Given the description of an element on the screen output the (x, y) to click on. 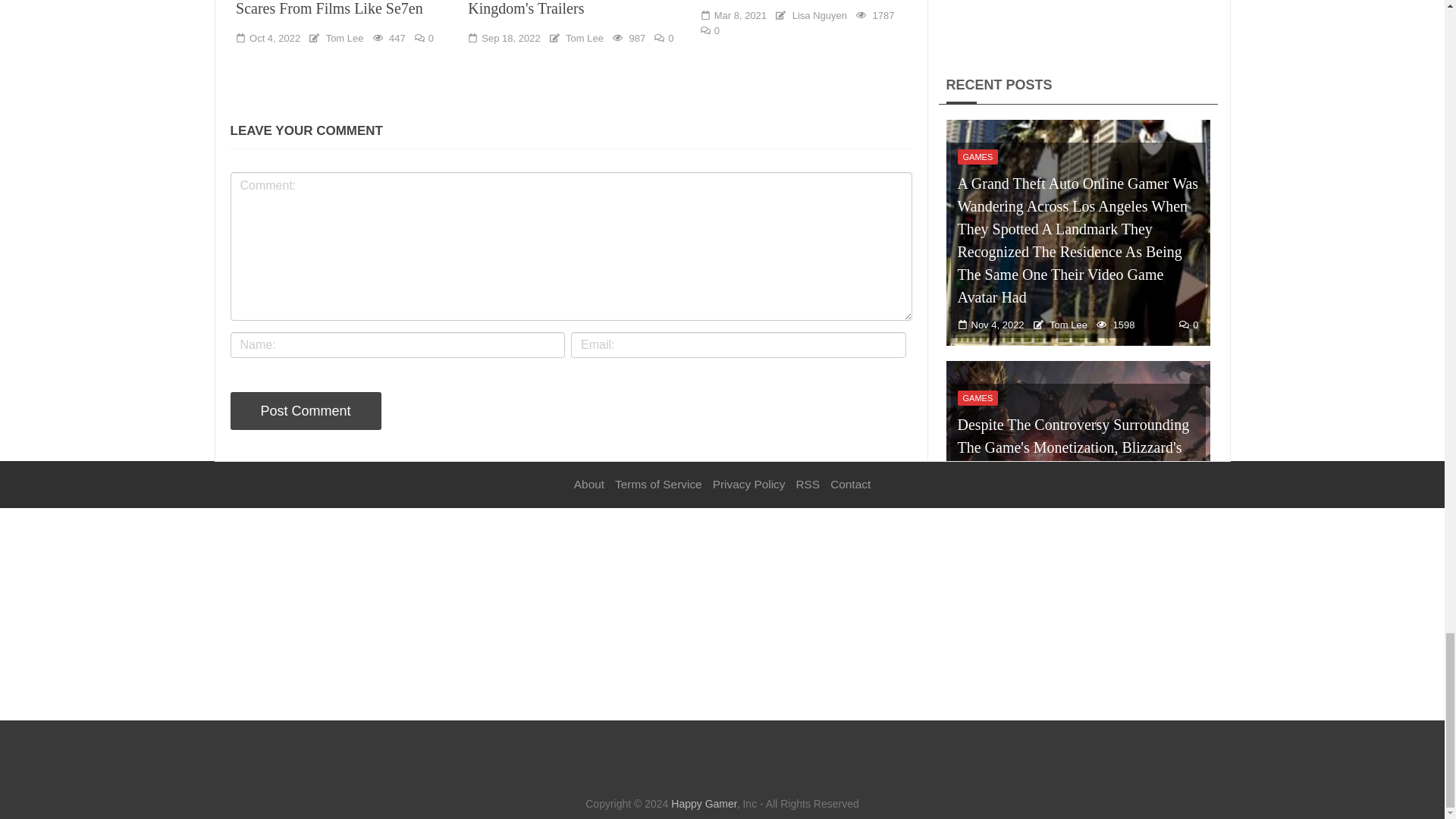
Post Comment (305, 410)
